Given the description of an element on the screen output the (x, y) to click on. 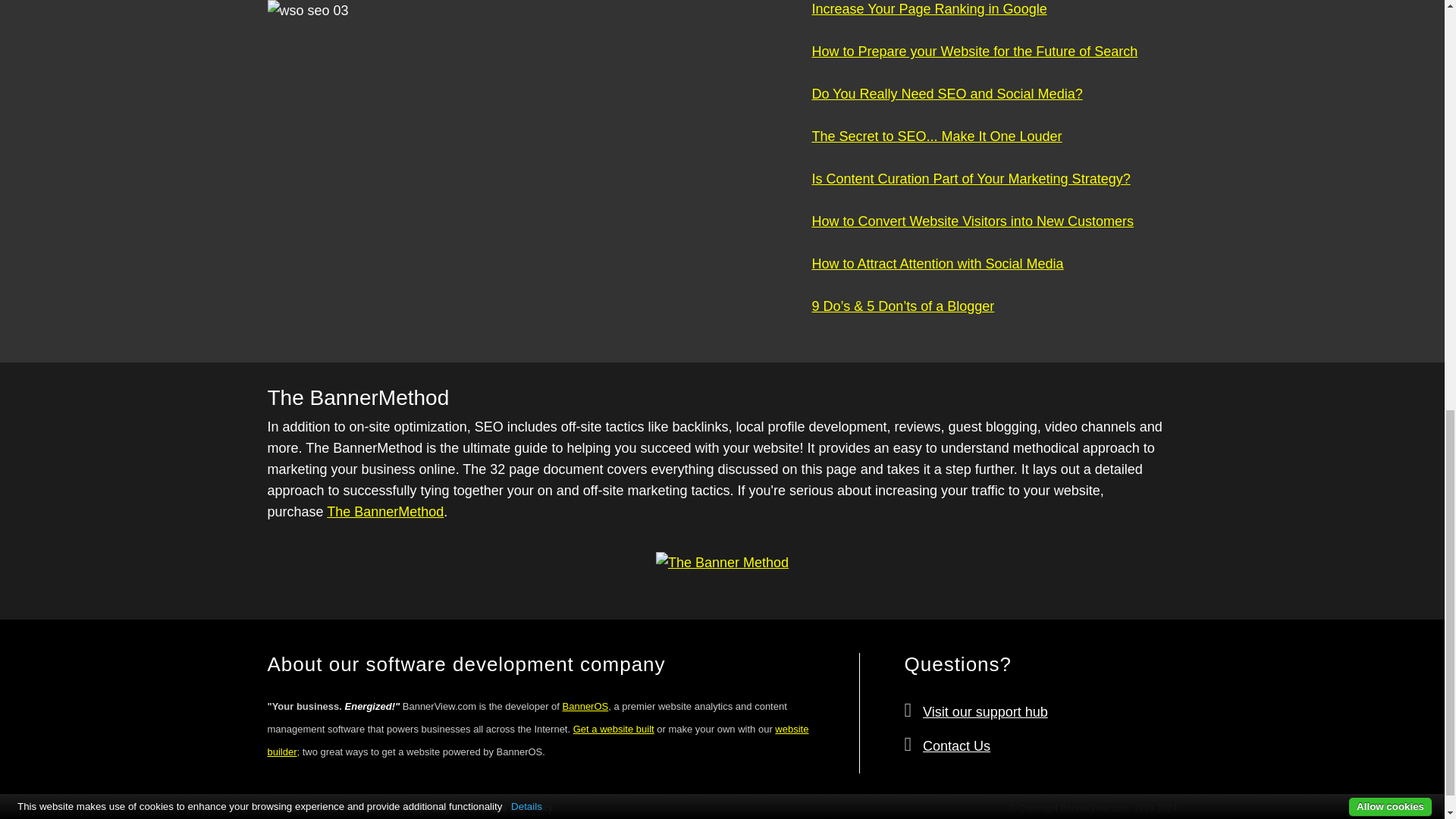
How to Attract Attention with Social Media (936, 274)
How to Prepare your Website for the Future of Search (973, 62)
How to Convert Website Visitors into New Customers (972, 231)
The Secret to SEO... Make It One Louder (935, 146)
Do You Really Need SEO and Social Media? (945, 104)
The BannerMethod (385, 511)
Increase Your Page Ranking in Google (928, 8)
Visit our support hub (985, 711)
Is Content Curation Part of Your Marketing Strategy? (969, 189)
Contact Us (956, 745)
